Given the description of an element on the screen output the (x, y) to click on. 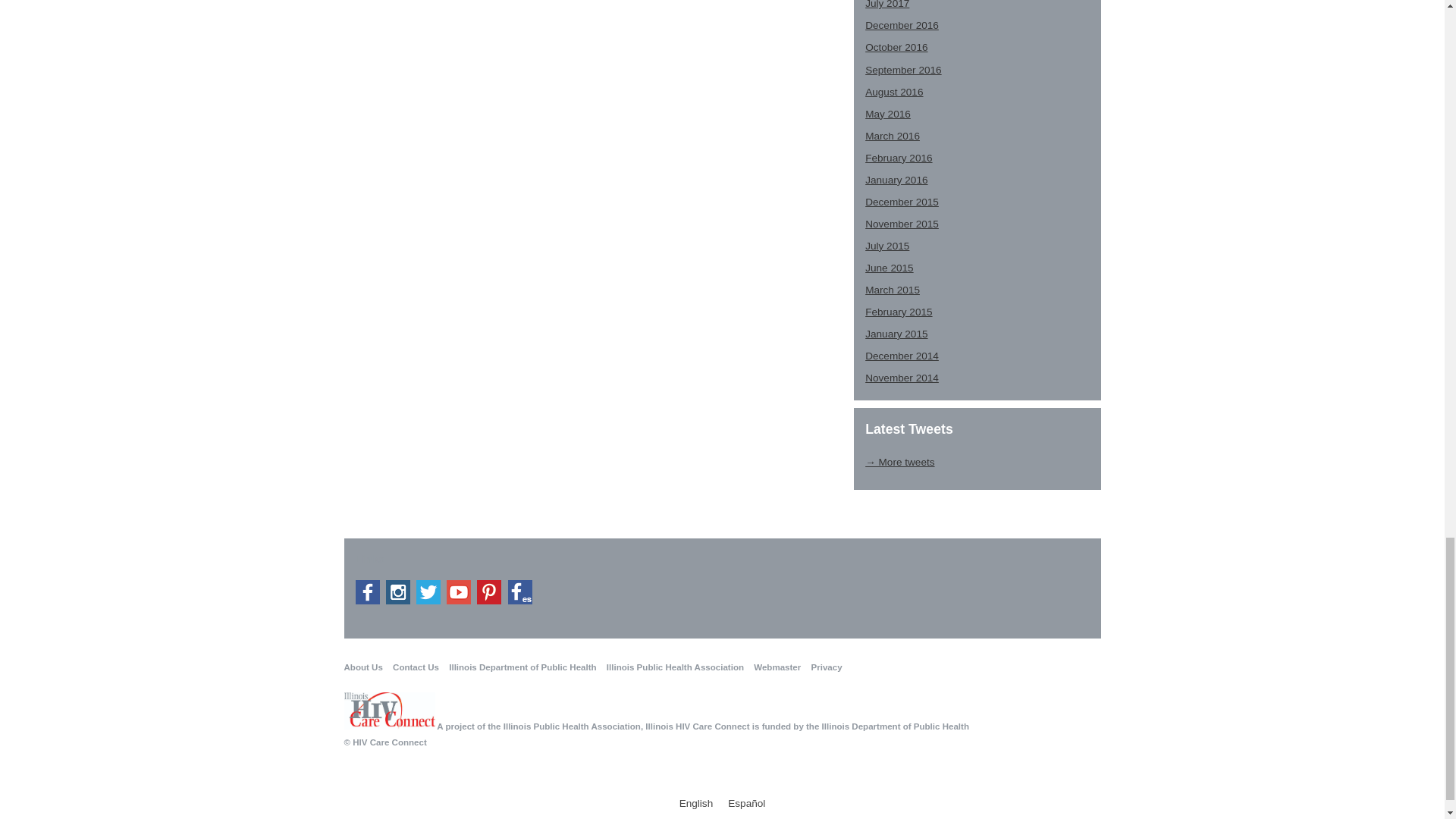
Contact Us (416, 666)
